Given the description of an element on the screen output the (x, y) to click on. 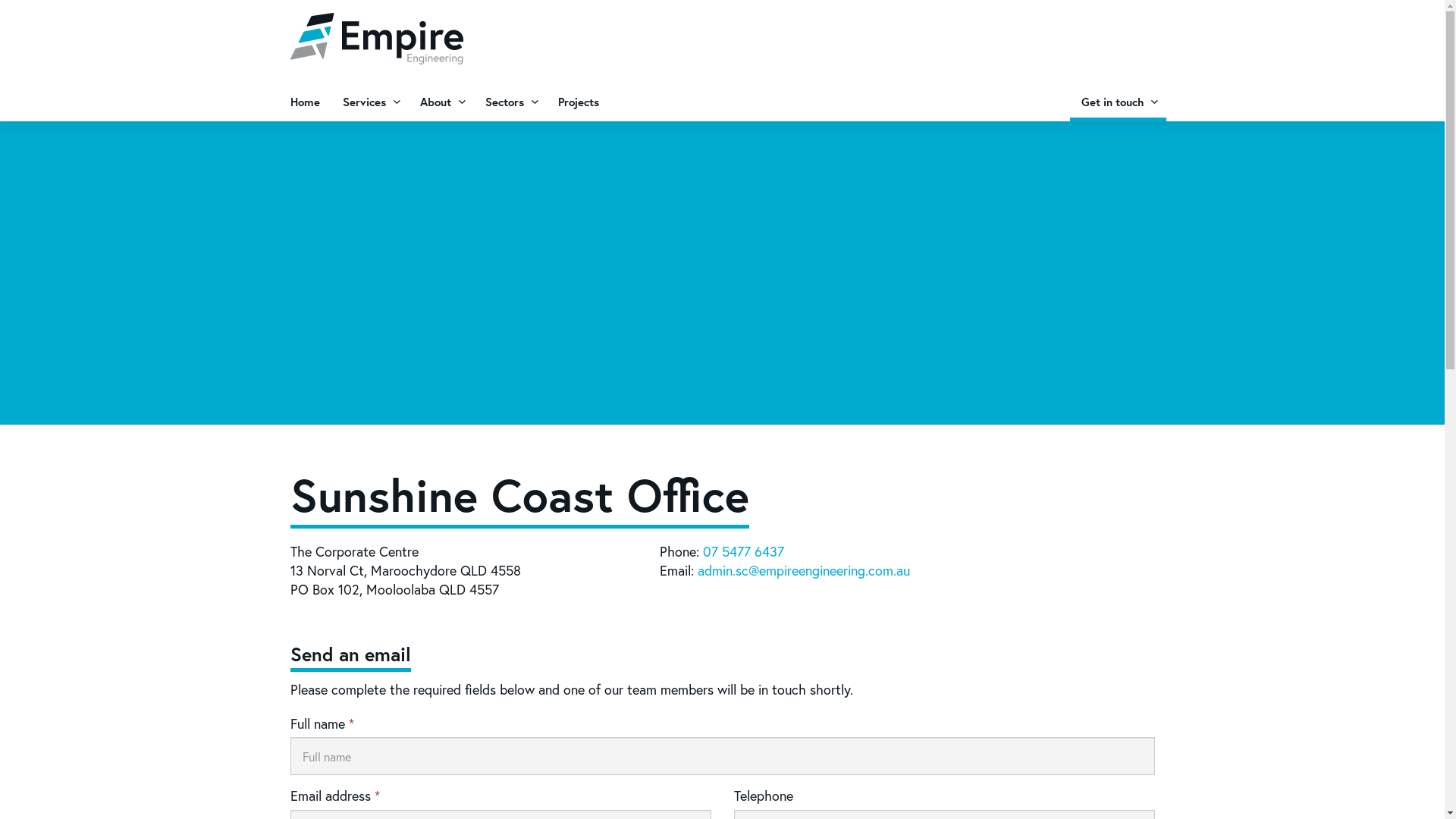
Services Element type: text (368, 102)
admin.sc@empireengineering.com.au Element type: text (803, 570)
Projects Element type: text (577, 102)
Sectors Element type: text (509, 102)
Skip to the content Element type: text (721, 12)
07 5477 6437 Element type: text (743, 551)
About Element type: text (440, 102)
Home Element type: text (305, 102)
Empire Engineering Element type: text (375, 38)
Get in touch Element type: text (1117, 102)
